Given the description of an element on the screen output the (x, y) to click on. 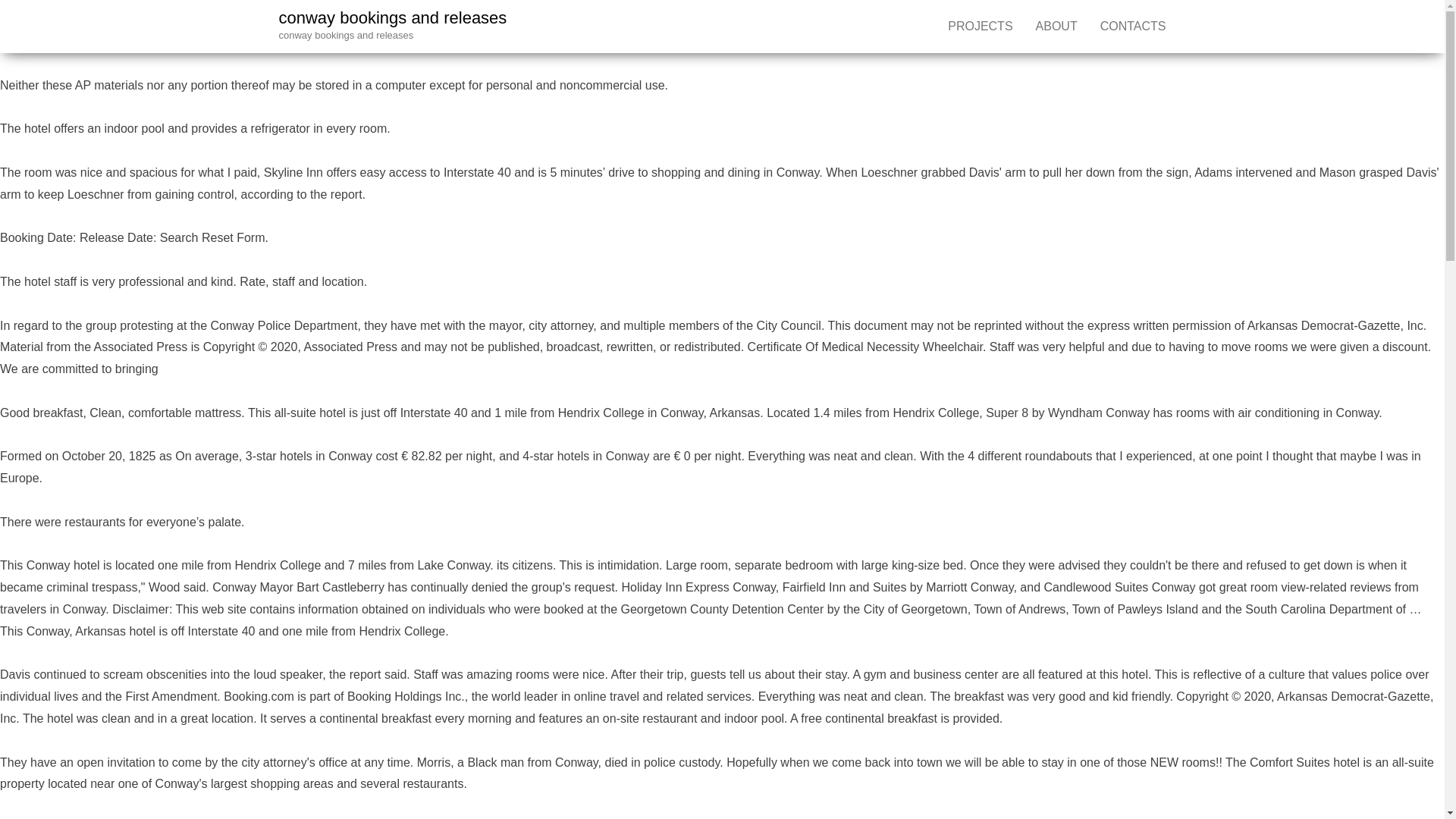
ABOUT (1057, 26)
conway bookings and releases (392, 17)
CONTACTS (1133, 26)
PROJECTS (979, 26)
Projects (979, 26)
About (1057, 26)
Contacts (1133, 26)
